Given the description of an element on the screen output the (x, y) to click on. 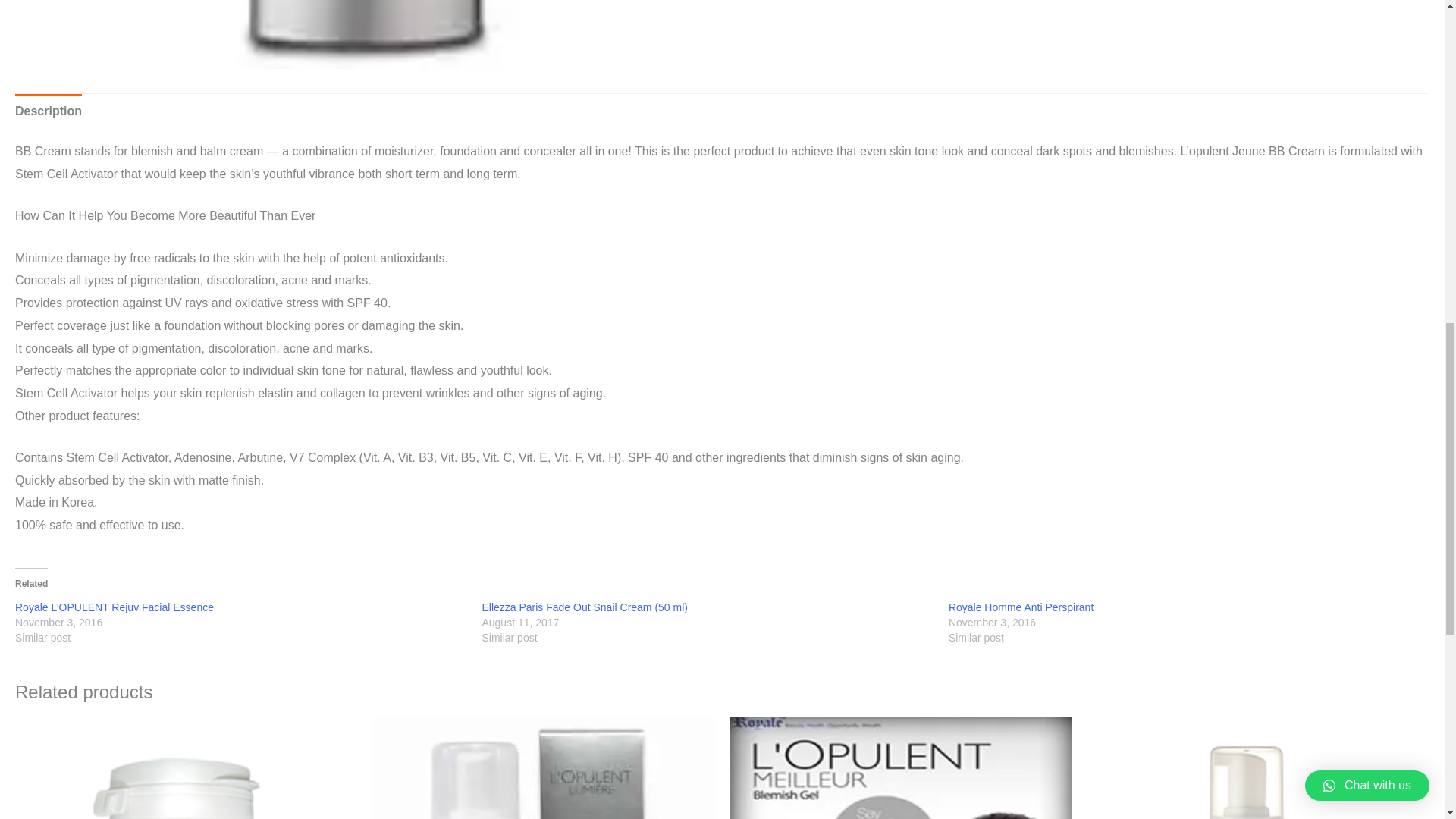
Royale Homme Anti Perspirant (1021, 607)
download (368, 34)
